Given the description of an element on the screen output the (x, y) to click on. 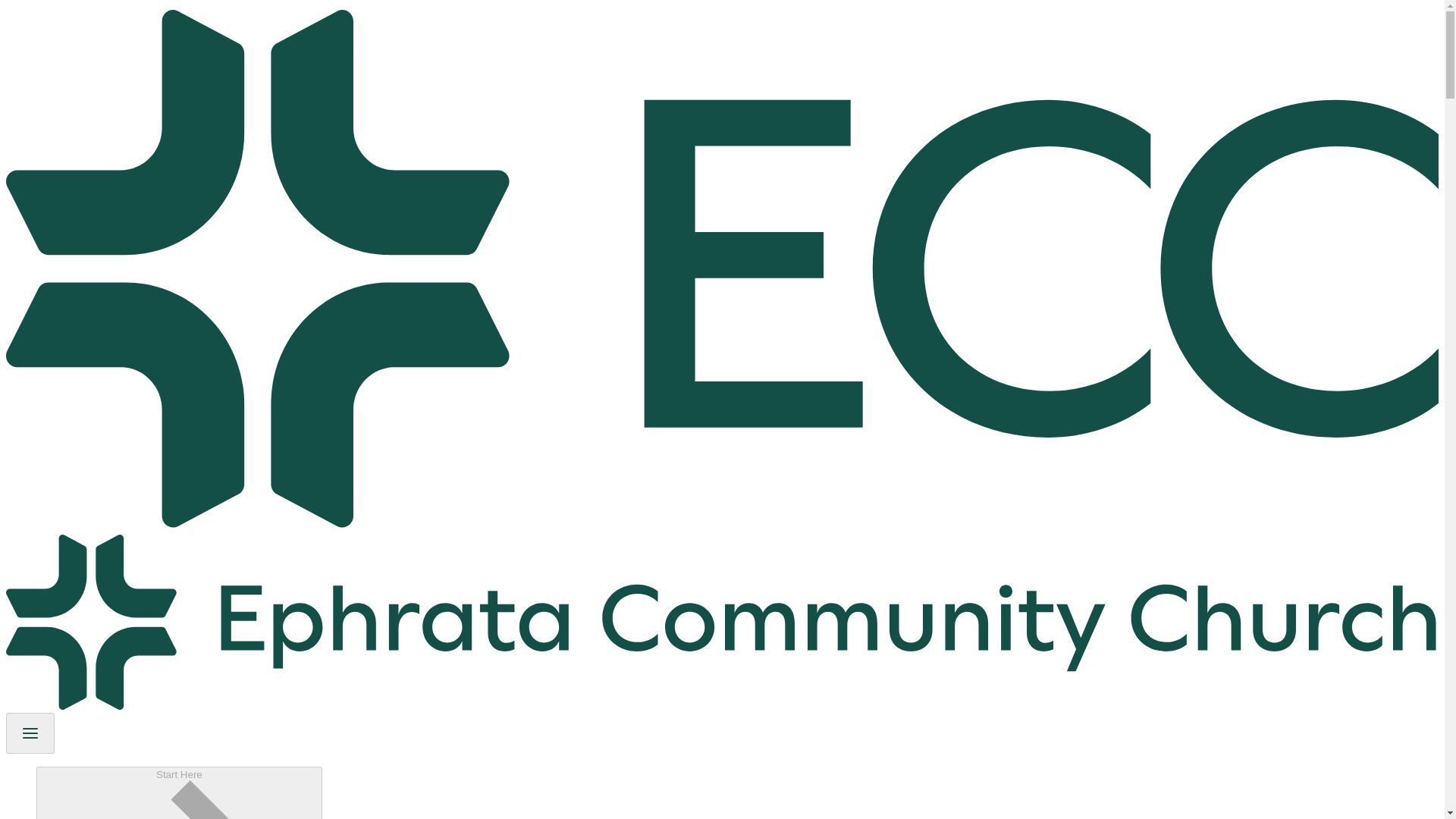
Start Here (178, 792)
